Given the description of an element on the screen output the (x, y) to click on. 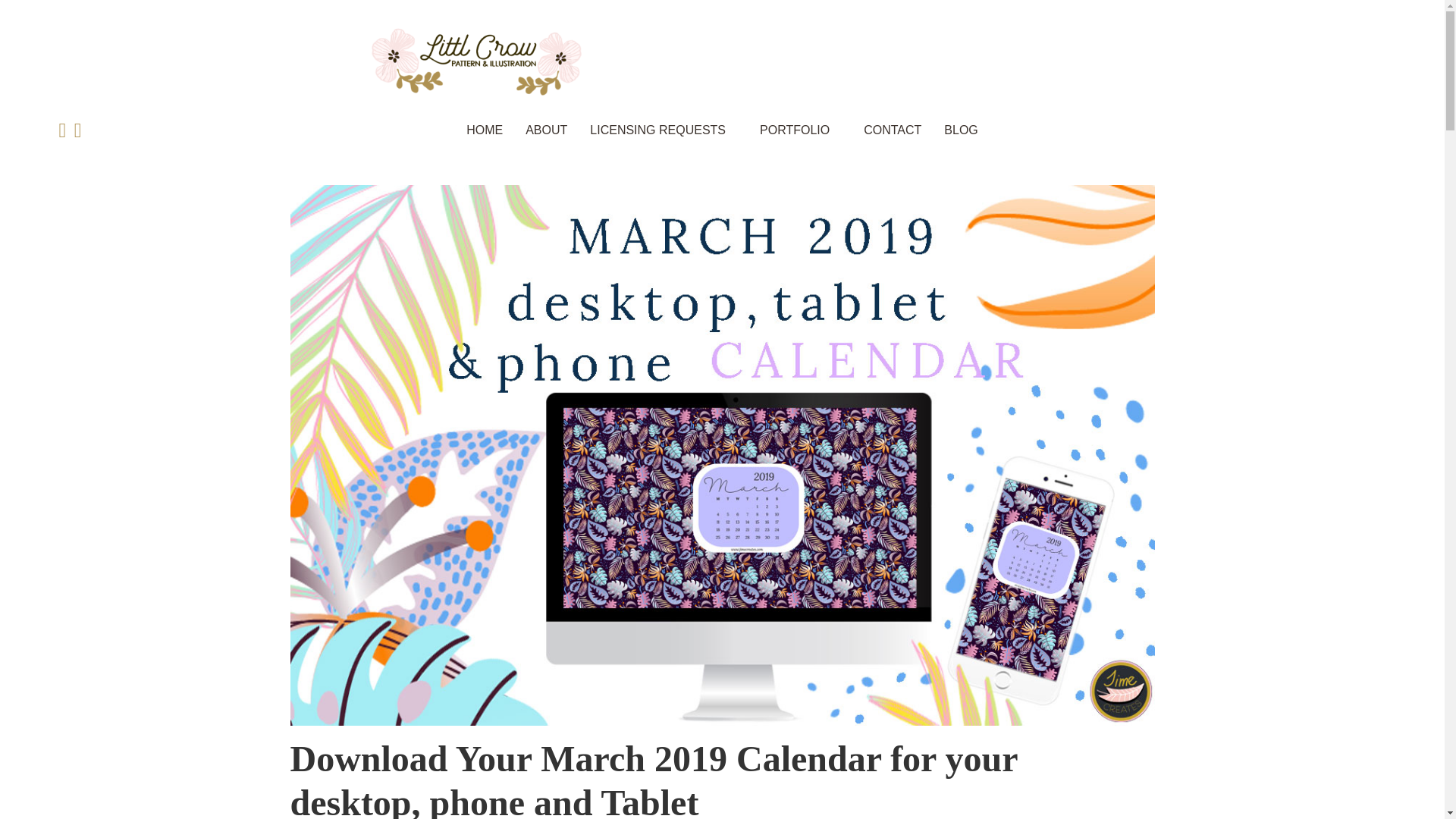
LICENSING REQUESTS (657, 130)
HOME (483, 130)
BLOG (960, 130)
PORTFOLIO (794, 130)
ABOUT (545, 130)
CONTACT (892, 130)
